Given the description of an element on the screen output the (x, y) to click on. 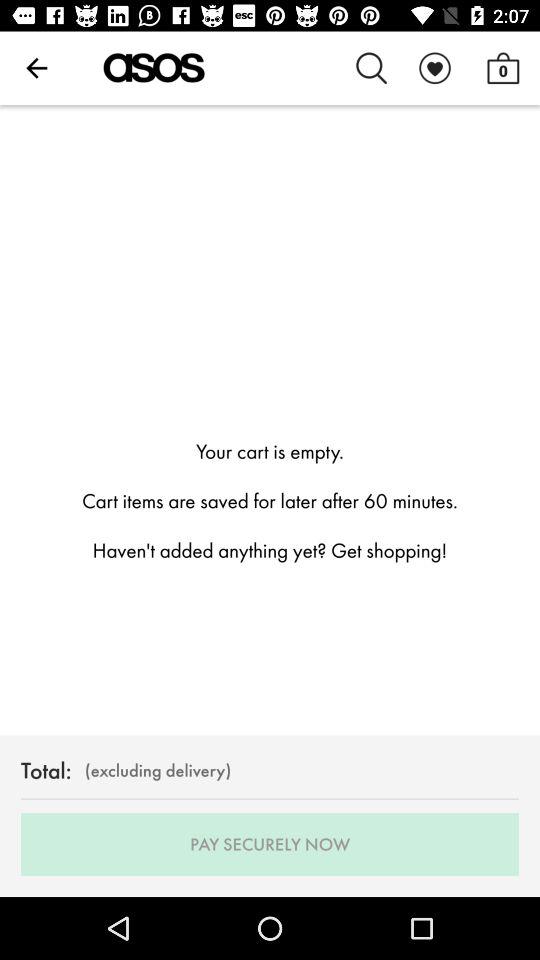
tap icon above your cart is item (503, 68)
